Given the description of an element on the screen output the (x, y) to click on. 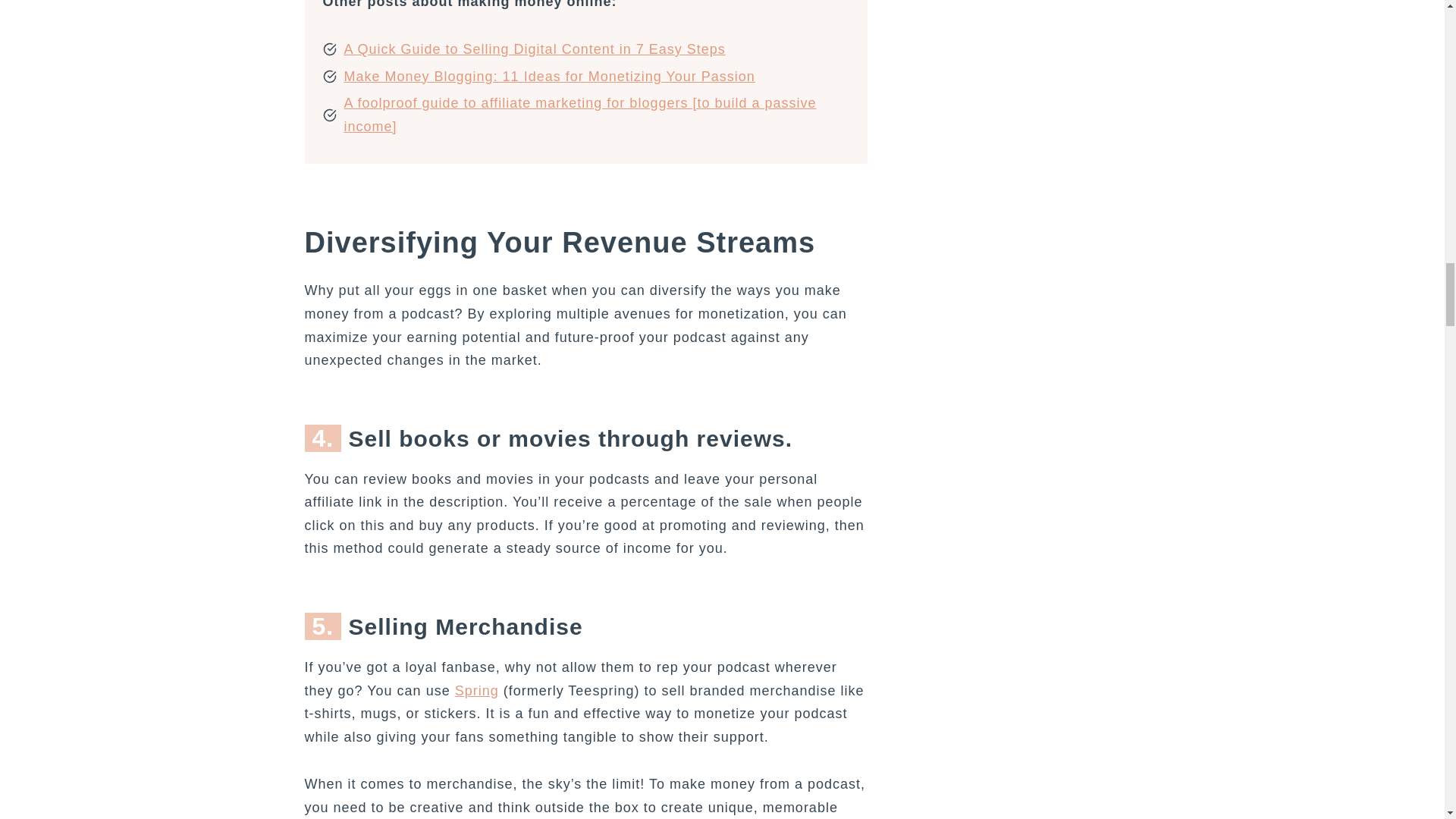
Spring (476, 690)
A Quick Guide to Selling Digital Content in 7 Easy Steps (534, 48)
Make Money Blogging: 11 Ideas for Monetizing Your Passion (549, 76)
